Given the description of an element on the screen output the (x, y) to click on. 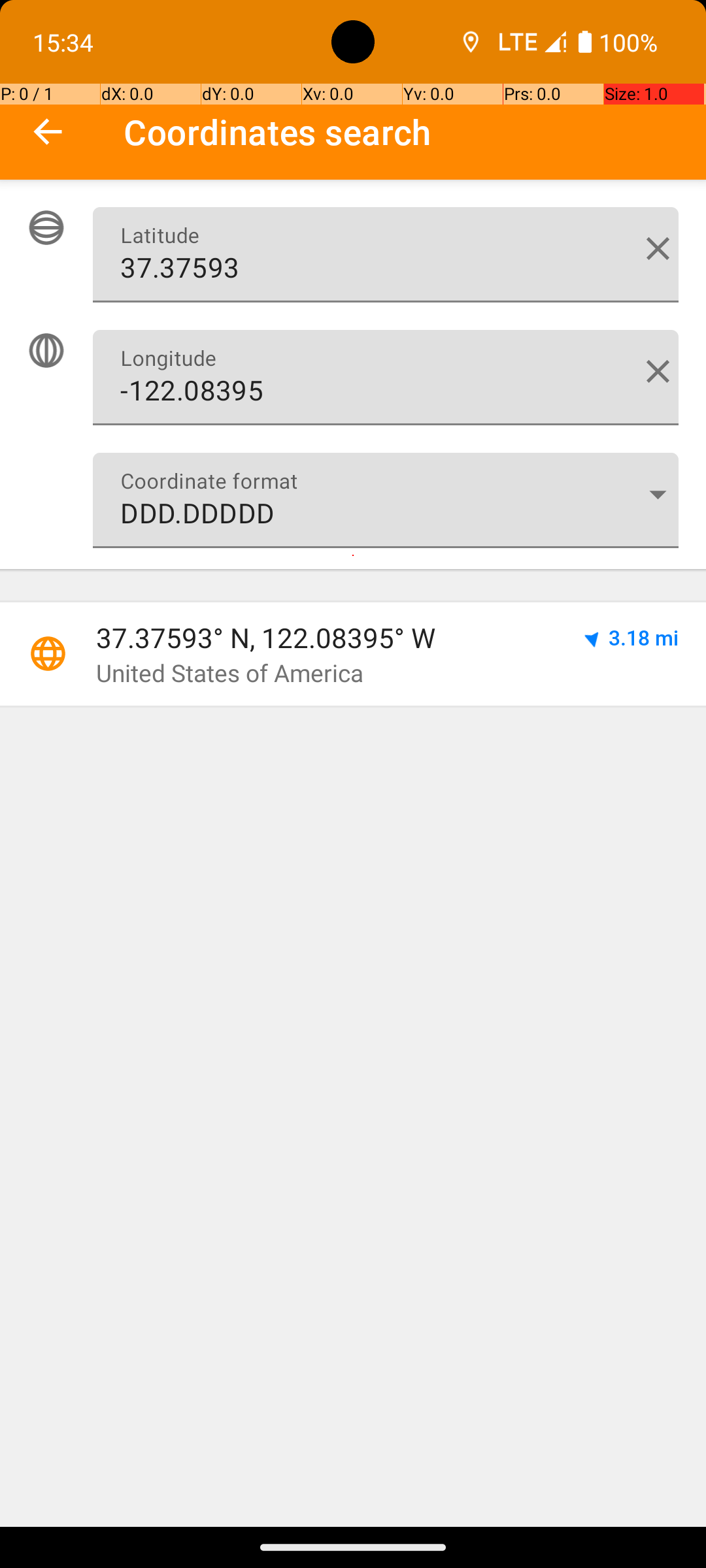
Coordinates search Element type: android.widget.TextView (414, 131)
37.37593 Element type: android.widget.EditText (385, 254)
-122.08395 Element type: android.widget.EditText (385, 377)
DDD.DDDDD Element type: android.widget.EditText (385, 500)
Coordinate format Element type: android.widget.ImageButton (657, 493)
37.37593° N, 122.08395° W Element type: android.widget.TextView (324, 636)
3.18 mi Element type: android.widget.TextView (643, 637)
United States of America Element type: android.widget.TextView (229, 672)
